Given the description of an element on the screen output the (x, y) to click on. 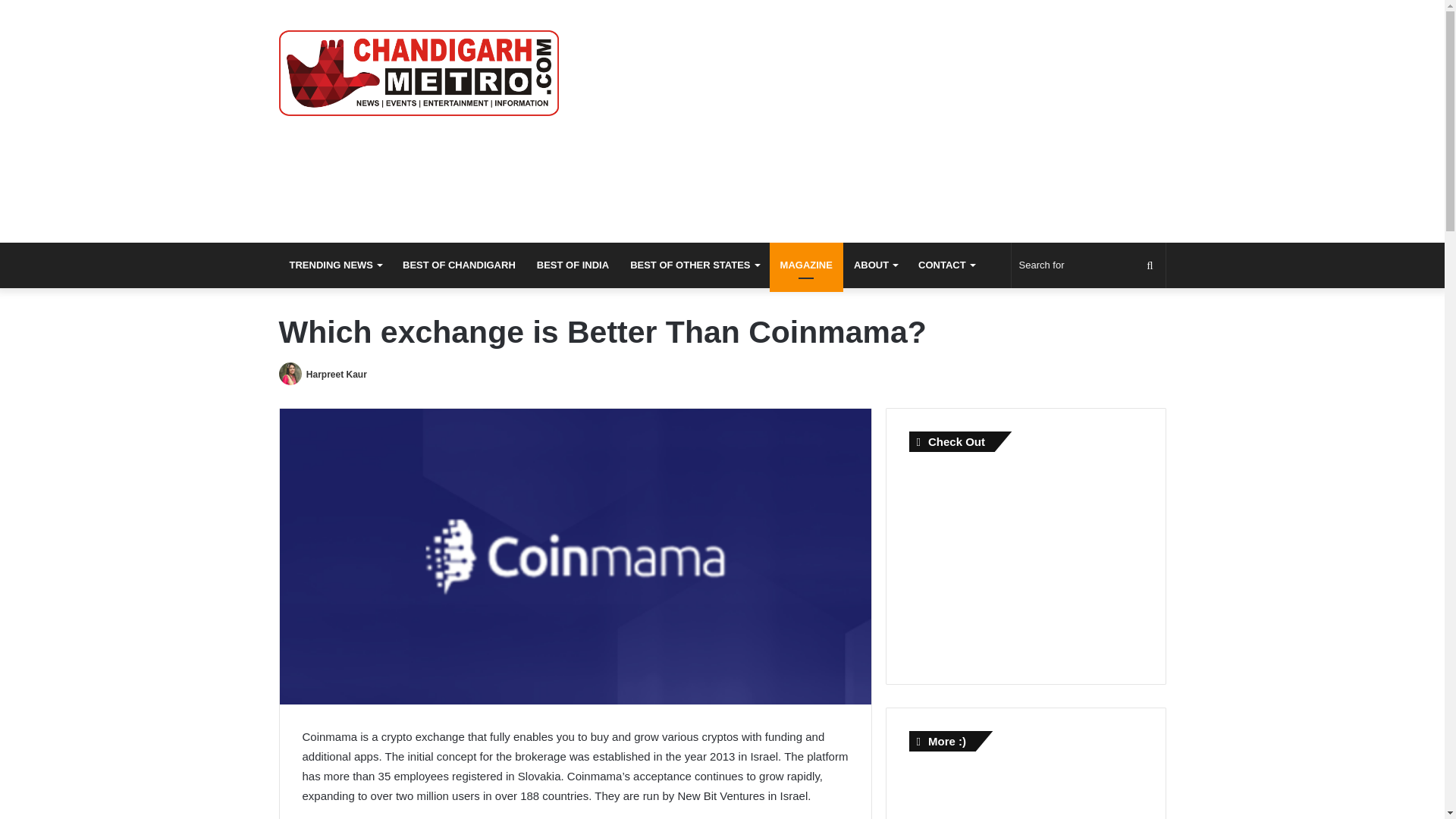
MAGAZINE (806, 265)
CONTACT (946, 265)
TRENDING NEWS (336, 265)
Chandigarh Metro (419, 73)
BEST OF CHANDIGARH (458, 265)
BEST OF OTHER STATES (694, 265)
Harpreet Kaur (335, 374)
Search for (1088, 265)
Harpreet Kaur (335, 374)
ABOUT (875, 265)
BEST OF INDIA (572, 265)
